Given the description of an element on the screen output the (x, y) to click on. 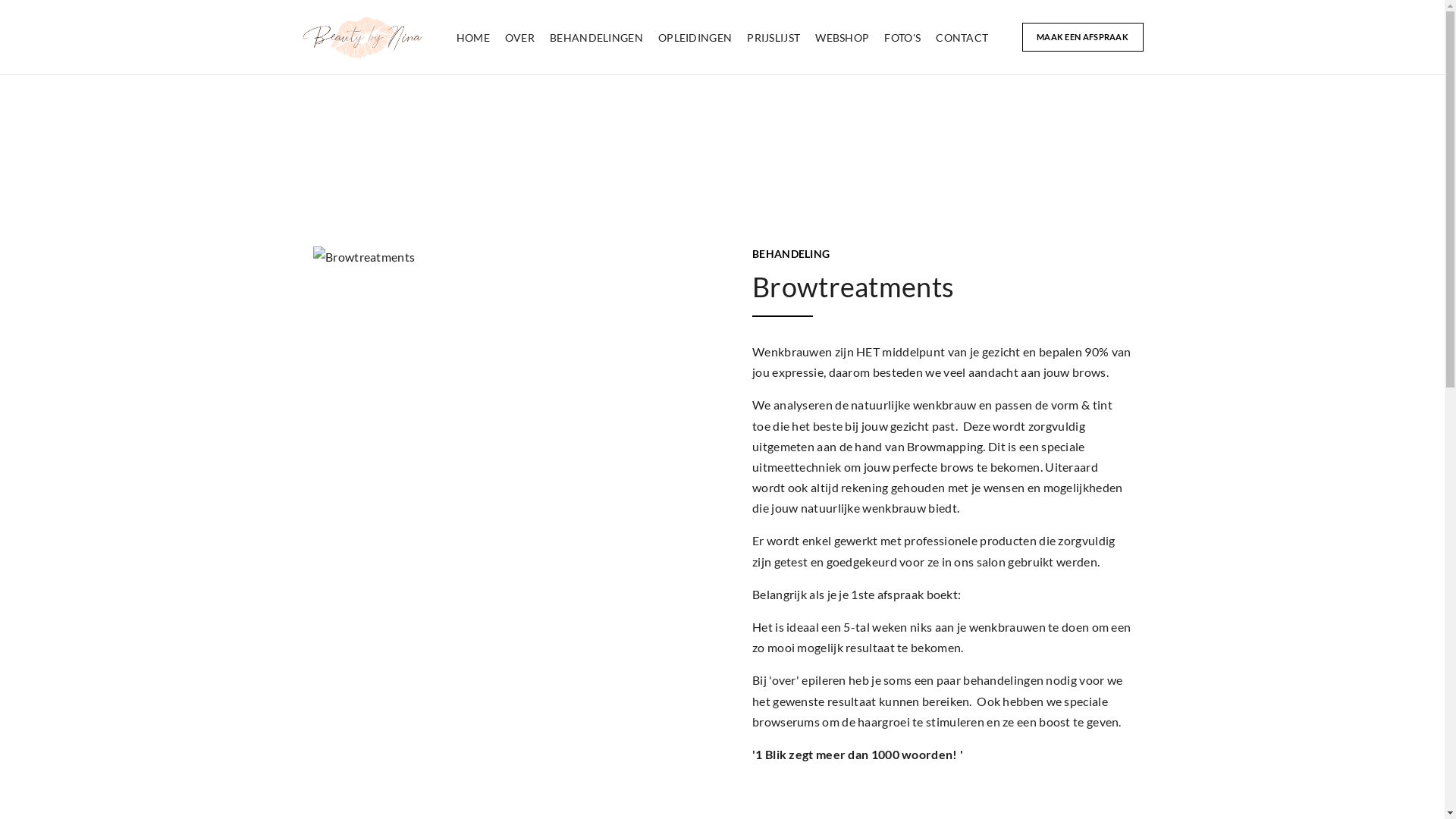
FOTO'S Element type: text (902, 37)
HOME Element type: text (472, 37)
PRIJSLIJST Element type: text (773, 37)
MAAK EEN AFSPRAAK Element type: text (1082, 37)
OVER Element type: text (519, 37)
BEHANDELINGEN Element type: text (596, 37)
WEBSHOP Element type: text (842, 37)
OPLEIDINGEN Element type: text (694, 37)
CONTACT Element type: text (961, 37)
